Given the description of an element on the screen output the (x, y) to click on. 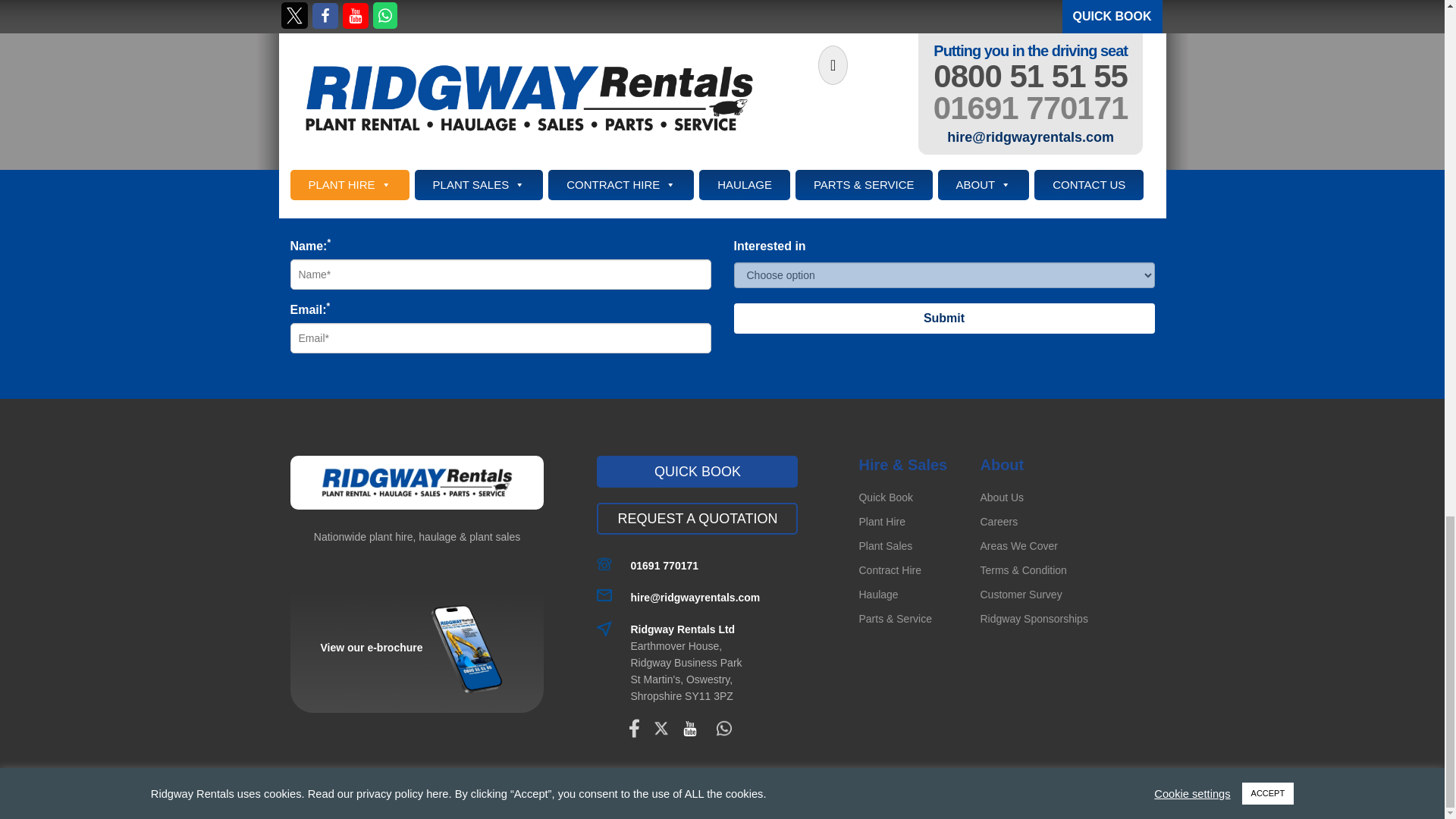
YouTube (690, 728)
Email (695, 597)
Ridgway Rentals (416, 482)
Send (721, 37)
